Given the description of an element on the screen output the (x, y) to click on. 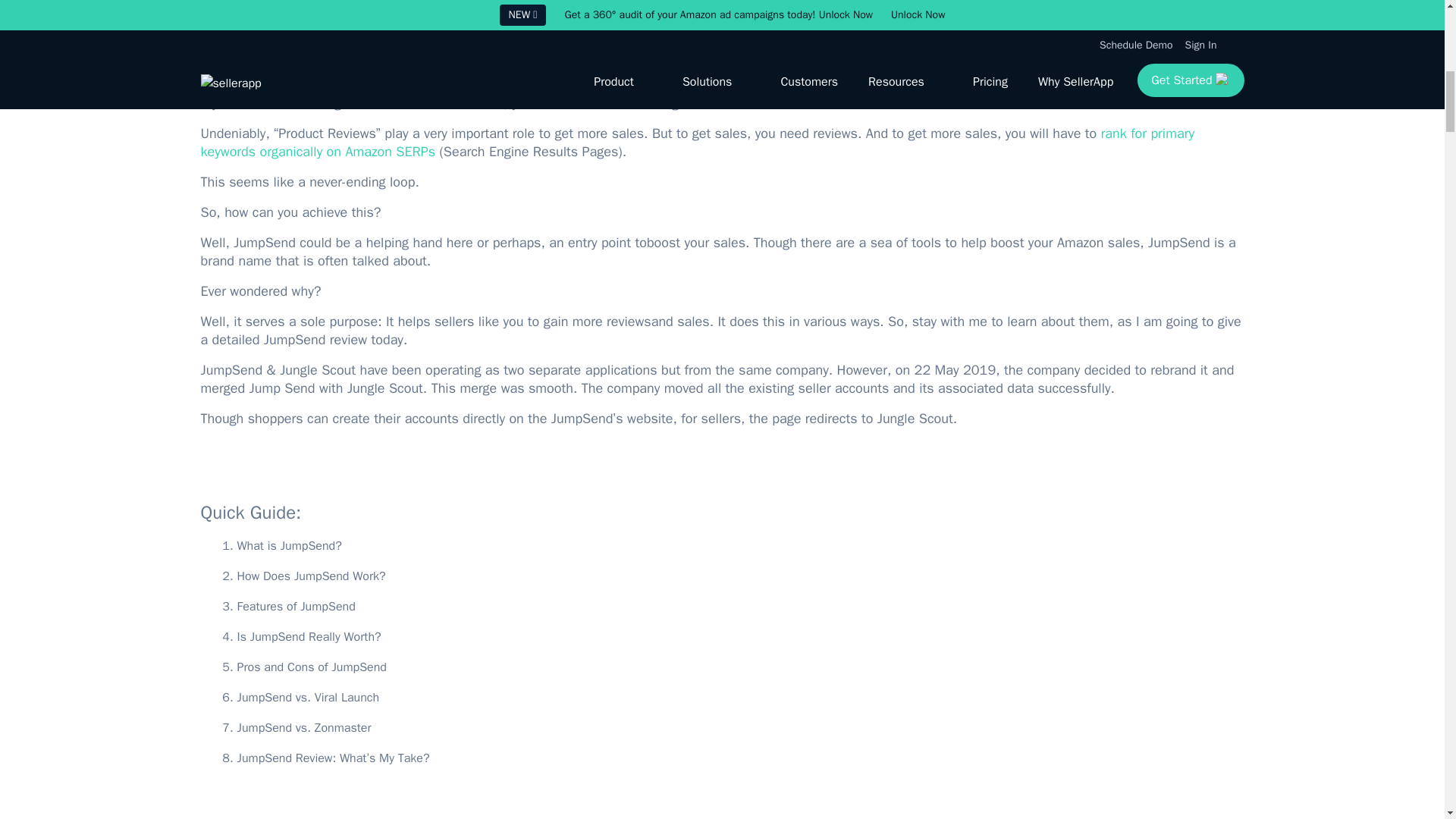
rank for primary keywords organically on Amazon SERPs (696, 142)
